Given the description of an element on the screen output the (x, y) to click on. 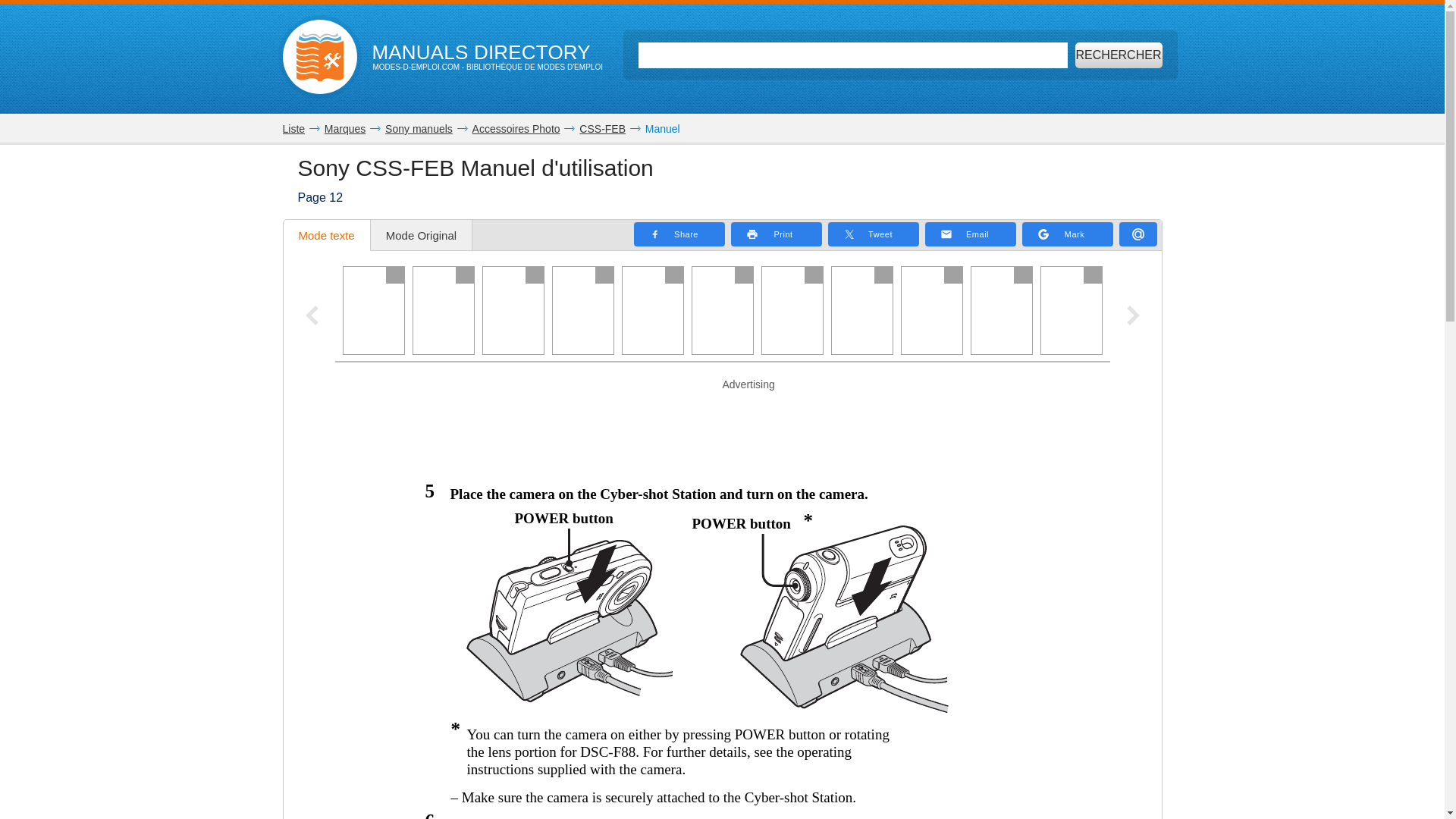
Mode Original (421, 235)
Liste (293, 128)
Marques (344, 128)
Mode texte (327, 235)
Accessoires Photo (515, 128)
RECHERCHER (1118, 54)
Sony manuels (418, 128)
CSS-FEB (602, 128)
